Given the description of an element on the screen output the (x, y) to click on. 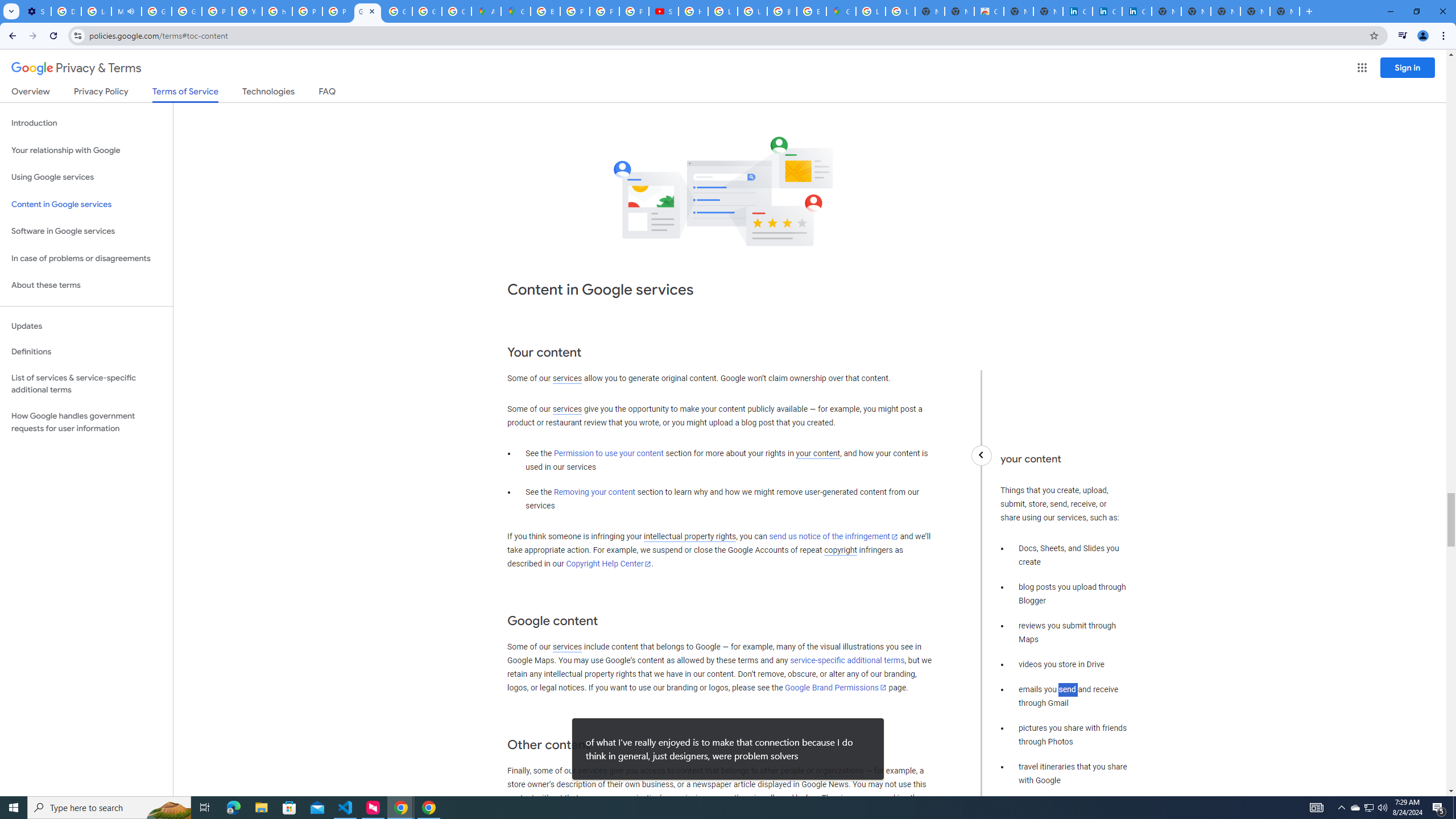
YouTube (247, 11)
Cookie Policy | LinkedIn (1077, 11)
Definitions (86, 352)
Removing your content (593, 492)
send us notice of the infringement (833, 536)
https://scholar.google.com/ (277, 11)
Privacy Help Center - Policies Help (604, 11)
Subscriptions - YouTube (663, 11)
About these terms (86, 284)
